Given the description of an element on the screen output the (x, y) to click on. 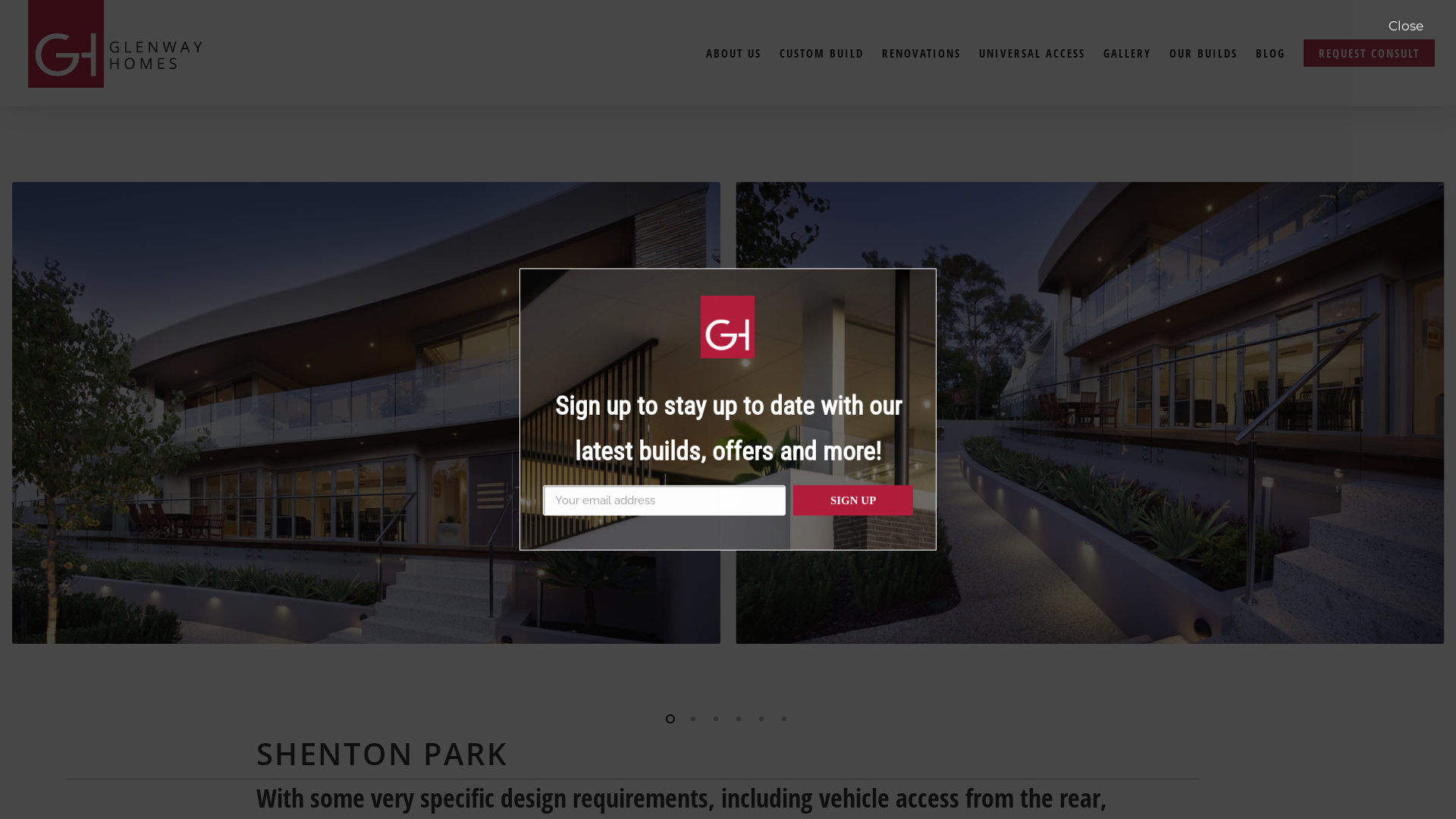
CUSTOM BUILD Element type: text (821, 52)
UNIVERSAL ACCESS Element type: text (1032, 52)
GALLERY Element type: text (1127, 52)
BLOG Element type: text (1270, 52)
ABOUT US Element type: text (733, 52)
OUR BUILDS Element type: text (1203, 52)
RENOVATIONS Element type: text (920, 52)
REQUEST CONSULT Element type: text (1368, 52)
